Given the description of an element on the screen output the (x, y) to click on. 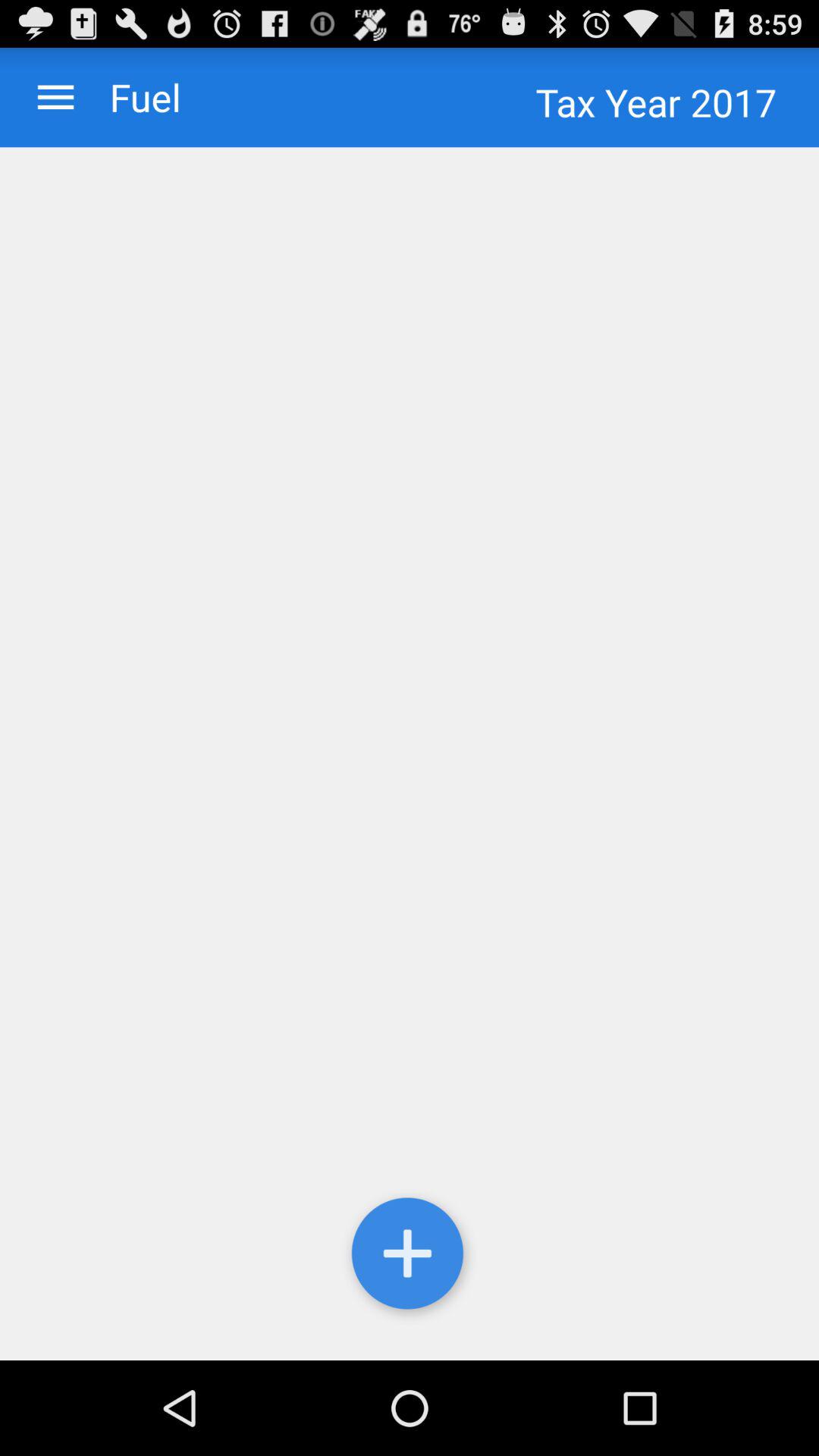
turn off item next to tax year 2017 item (129, 96)
